Given the description of an element on the screen output the (x, y) to click on. 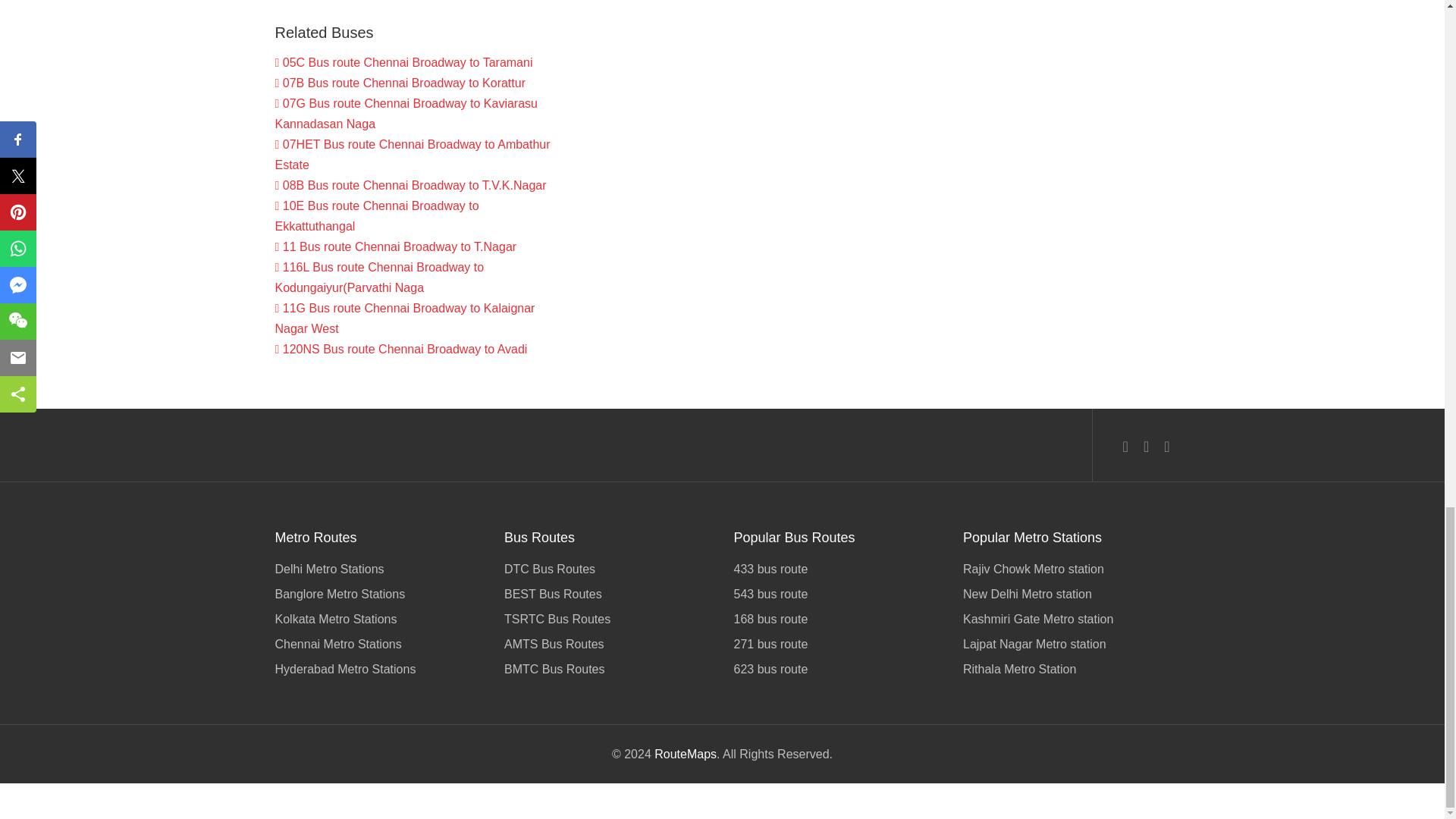
Banglore Metro Stations (378, 593)
05C Bus route Chennai Broadway to Taramani (403, 62)
433 bus route (836, 570)
10E Bus route Chennai Broadway to Ekkattuthangal (377, 215)
11G Bus route Chennai Broadway to Kalaignar Nagar West (404, 318)
AMTS Bus Routes (607, 643)
11 Bus route Chennai Broadway to T.Nagar (395, 246)
07G Bus route Chennai Broadway to Kaviarasu Kannadasan Naga (406, 113)
Twitter (1145, 445)
Rajiv Chowk Metro station (1066, 570)
07HET Bus route Chennai Broadway to Ambathur Estate (412, 154)
TSRTC Bus Routes (607, 618)
Pinterest (1166, 445)
Delhi Metro Stations (378, 570)
BEST Bus Routes (607, 593)
